Given the description of an element on the screen output the (x, y) to click on. 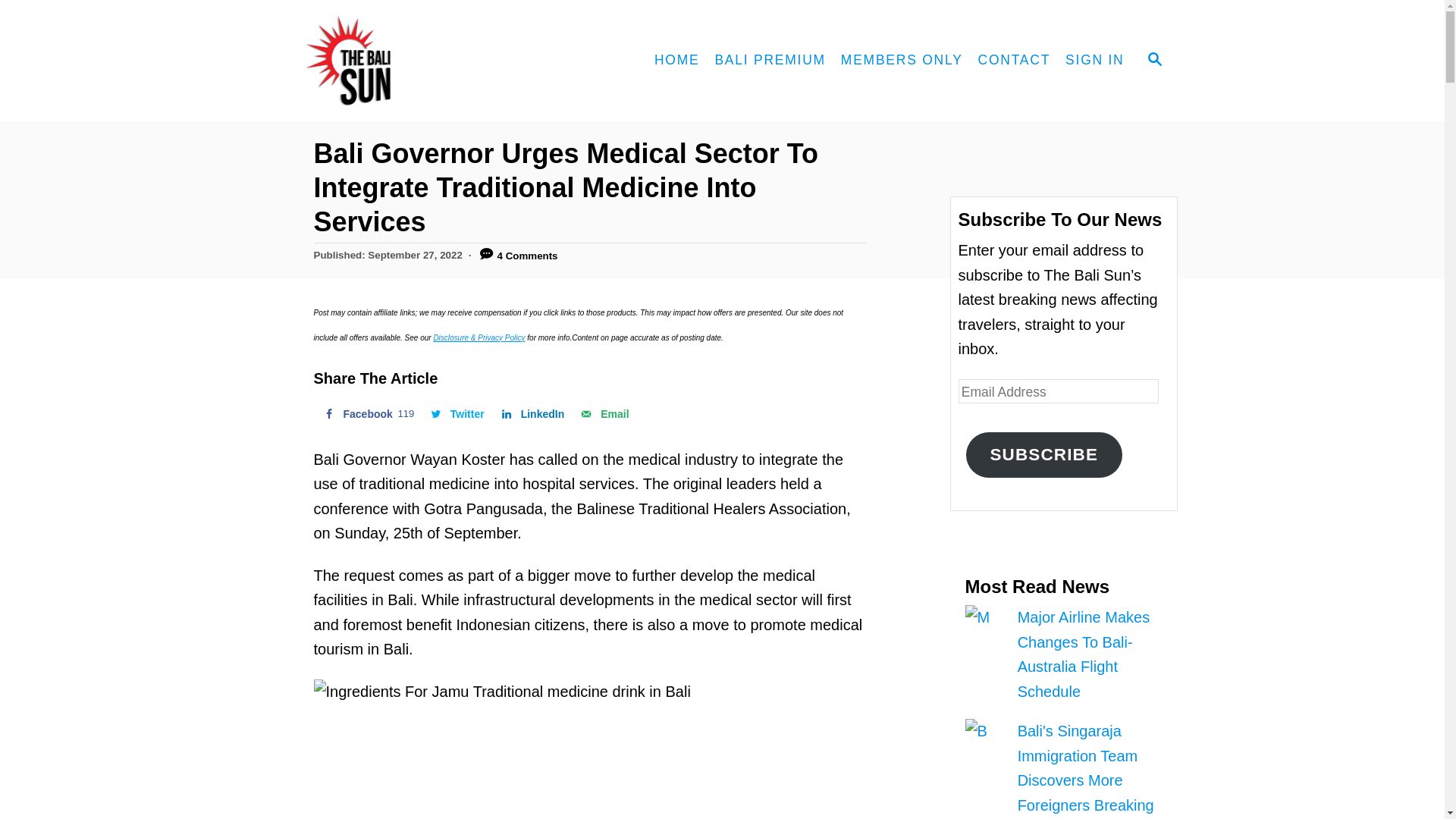
Share on LinkedIn (532, 413)
The Bali Sun (403, 60)
SEARCH (1153, 60)
Email (602, 413)
MEMBERS ONLY (901, 60)
SUBSCRIBE (1044, 454)
HOME (676, 60)
SIGN IN (1094, 60)
